Given the description of an element on the screen output the (x, y) to click on. 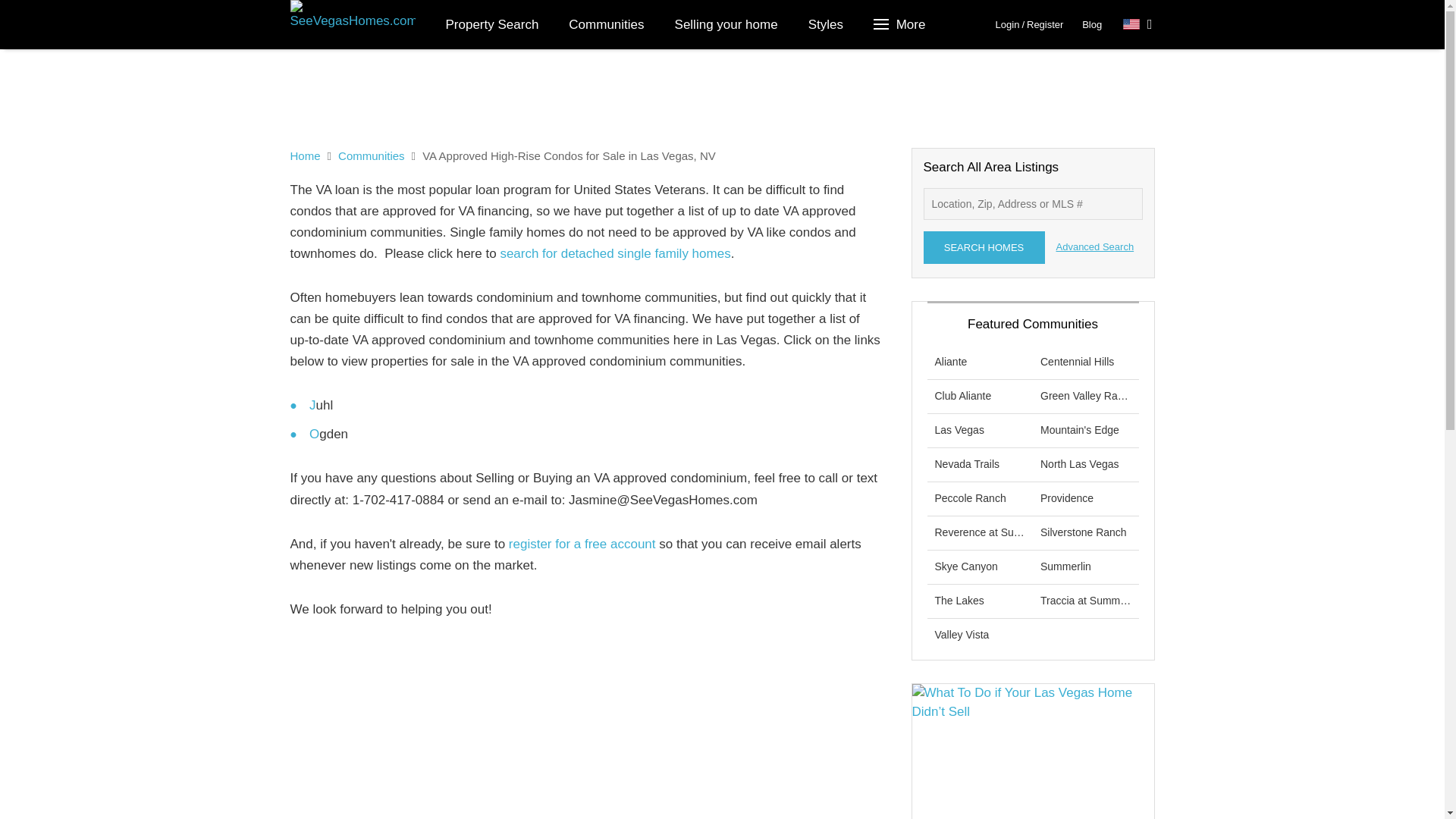
Select Language (1137, 24)
search for detached single family homes (614, 253)
Property Search (492, 24)
Communities (606, 24)
